Given the description of an element on the screen output the (x, y) to click on. 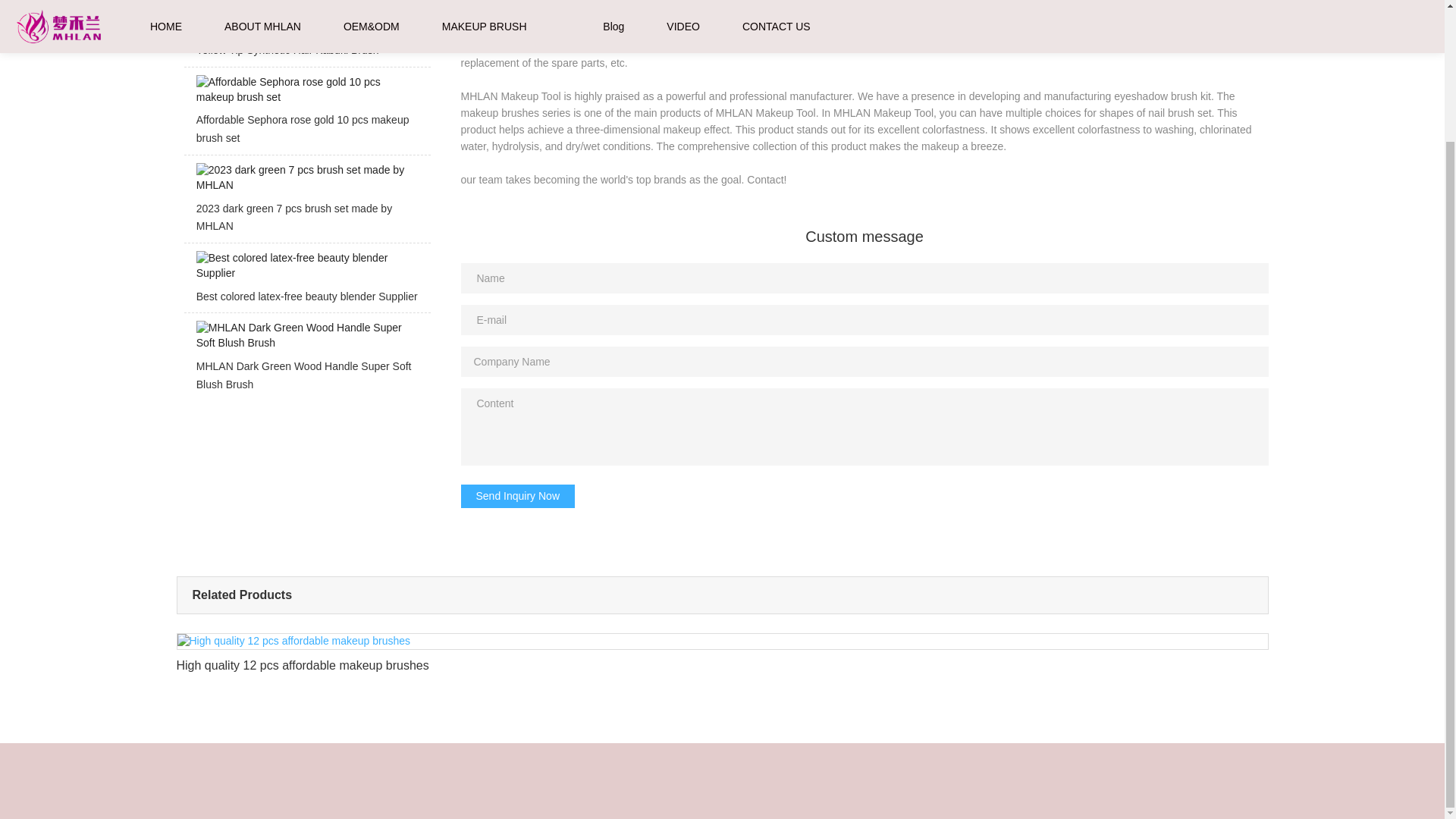
Affordable Sephora rose gold 10 pcs makeup brush set (306, 114)
MHLAN Dark Green Wood Handle Super Soft Blush Brush (306, 360)
2023 dark green 7 pcs brush set made by MHLAN (306, 202)
Send Inquiry Now (518, 495)
Best colored latex-free beauty blender Supplier (306, 281)
High quality 12 pcs affordable makeup brushes (722, 659)
